Given the description of an element on the screen output the (x, y) to click on. 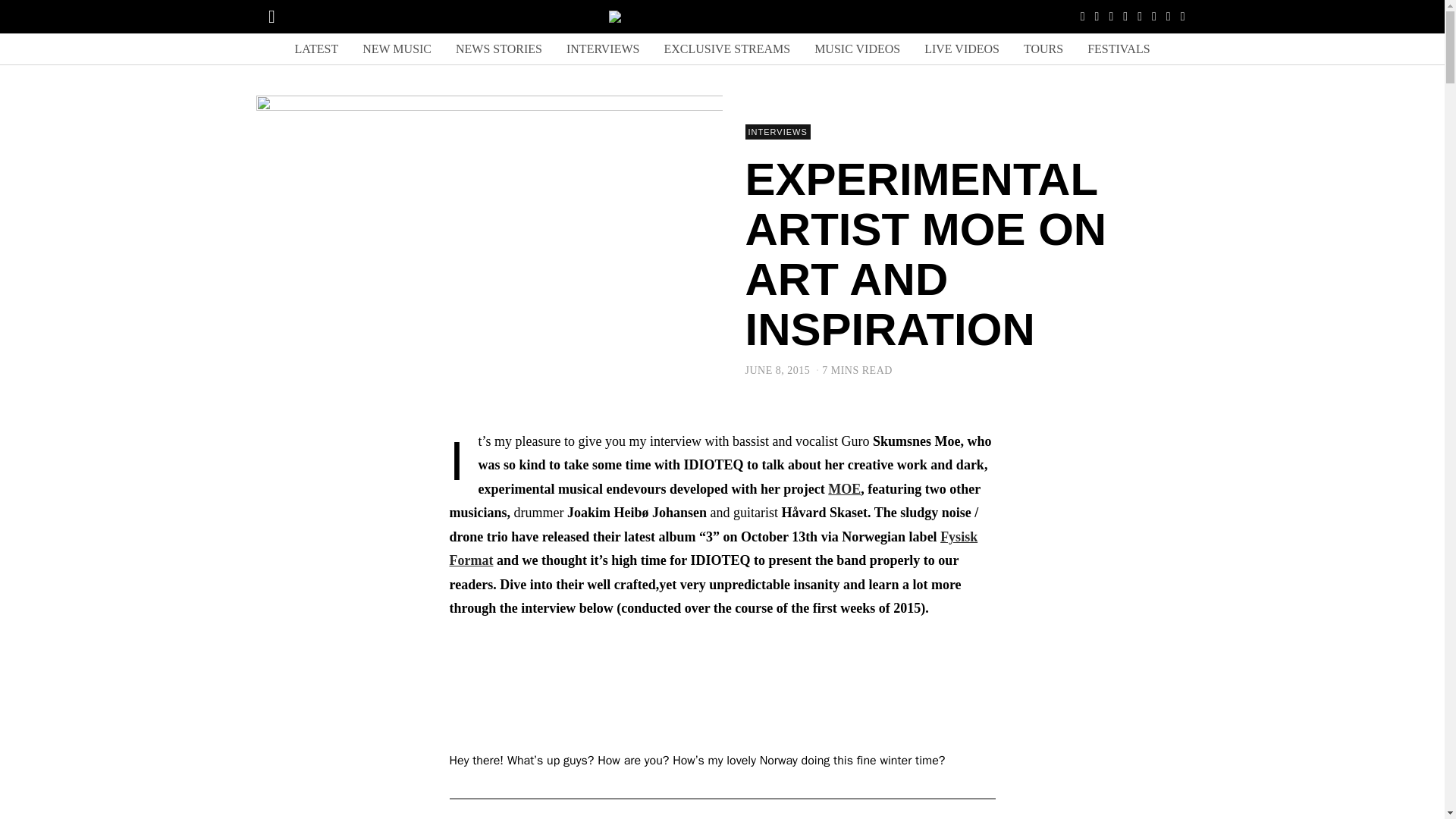
FESTIVALS (1118, 49)
LIVE VIDEOS (962, 49)
NEW MUSIC (397, 49)
Fysisk Format (712, 548)
Music Festivals (1118, 49)
MUSIC VIDEOS (857, 49)
EXCLUSIVE STREAMS (726, 49)
Exclusive Interviews with DIY artists (602, 49)
NEWS STORIES (499, 49)
LATEST (316, 49)
INTERVIEWS (602, 49)
Latest Articles from All Categories (316, 49)
TOURS (1043, 49)
Live Performances Videos (962, 49)
MOE (844, 488)
